Given the description of an element on the screen output the (x, y) to click on. 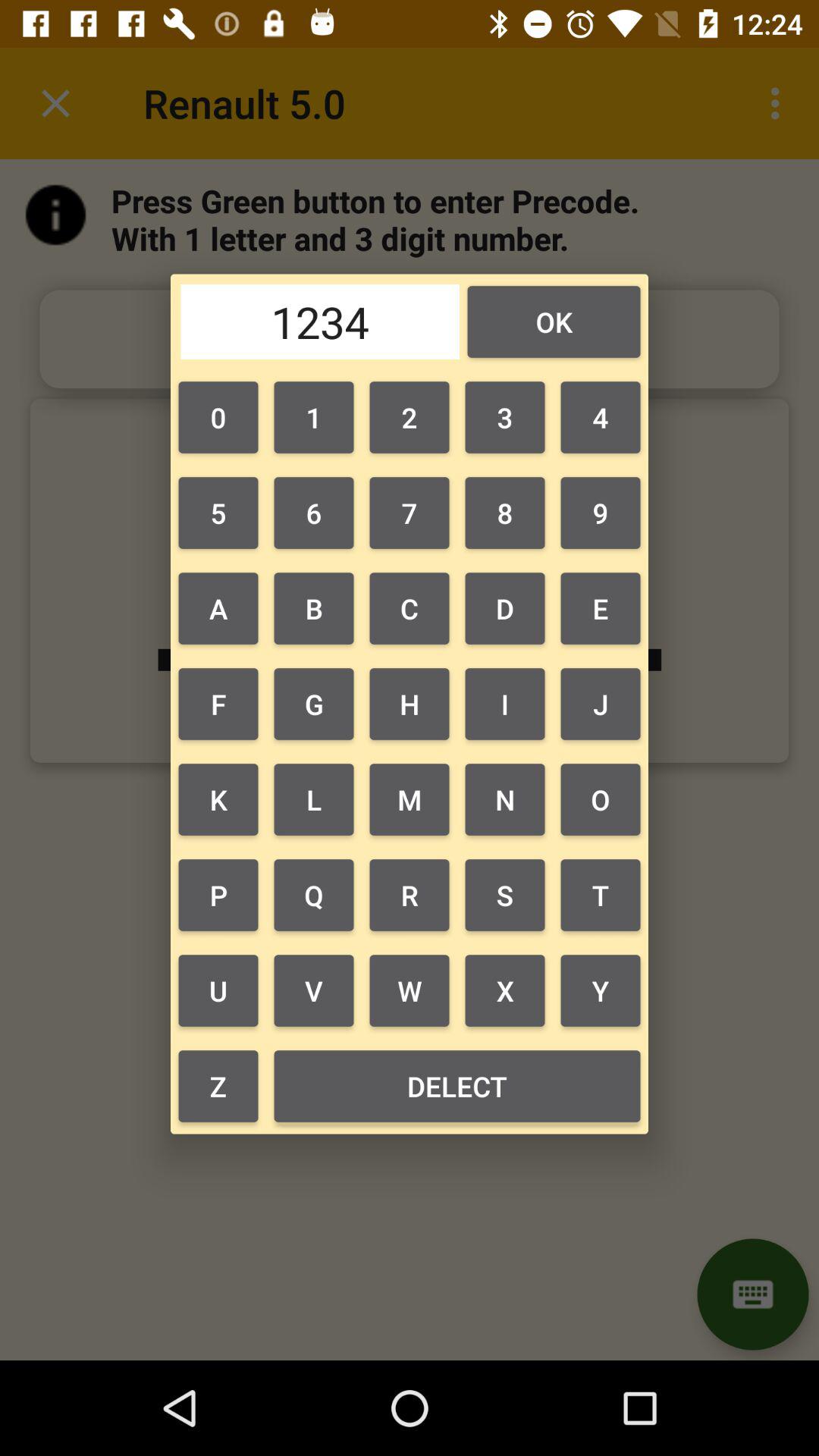
swipe until the d (504, 608)
